Given the description of an element on the screen output the (x, y) to click on. 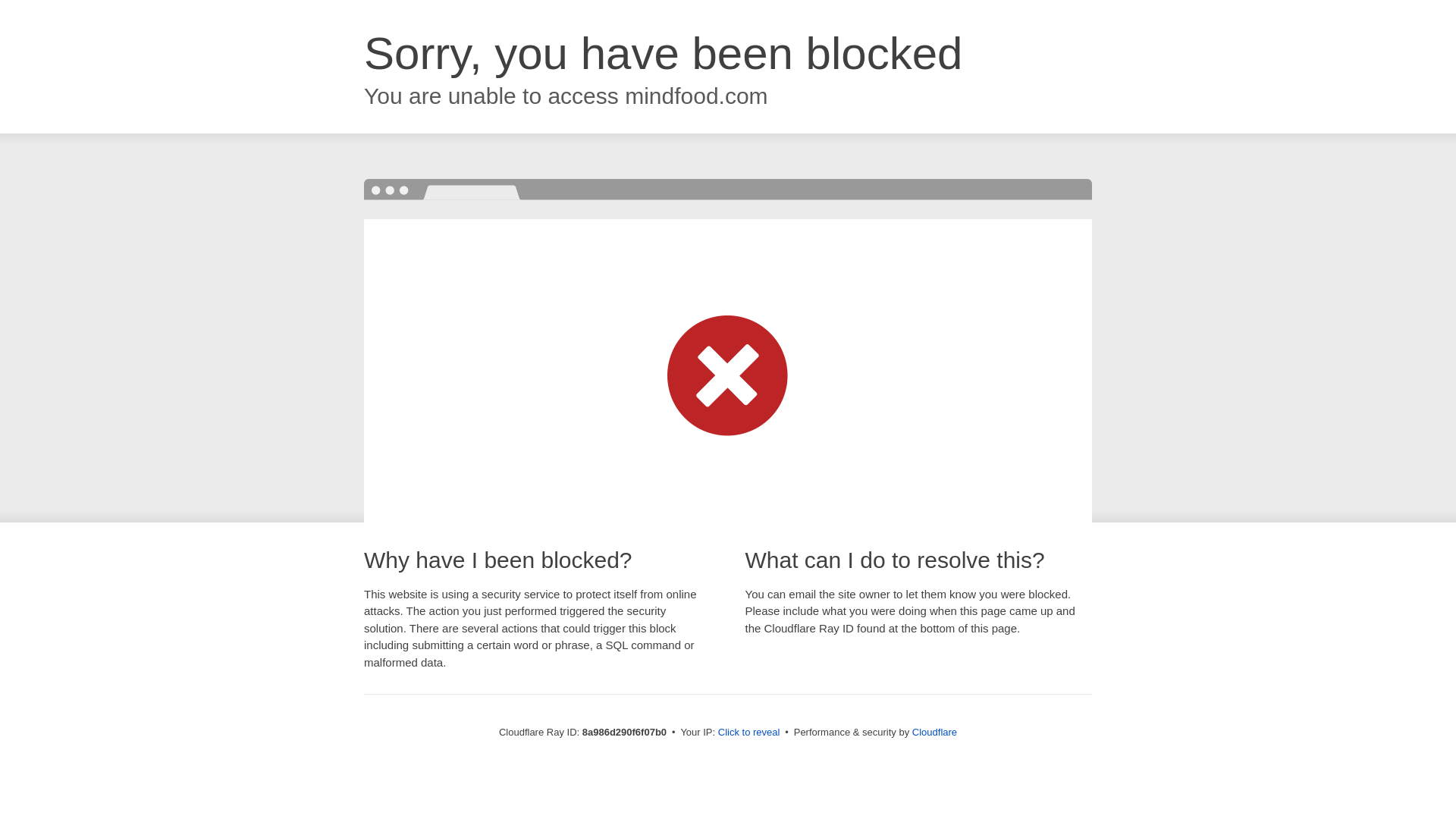
Cloudflare (934, 731)
Click to reveal (748, 732)
